Given the description of an element on the screen output the (x, y) to click on. 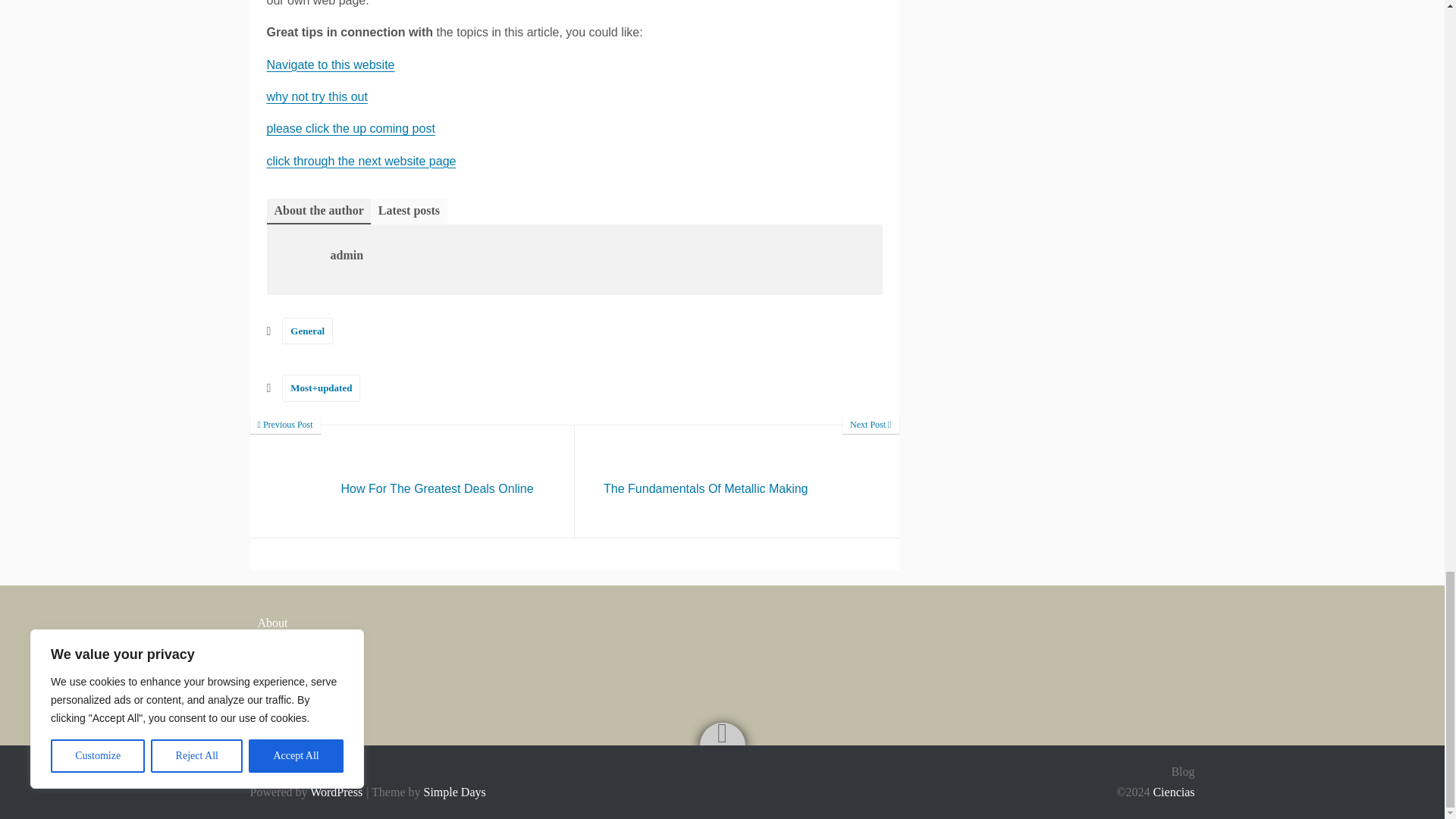
General (307, 330)
click through the next website page (361, 160)
The Fundamentals Of Metallic Making (412, 481)
why not try this out (737, 481)
Navigate to this website (317, 96)
please click the up coming post (737, 481)
How For The Greatest Deals Online (330, 64)
